Given the description of an element on the screen output the (x, y) to click on. 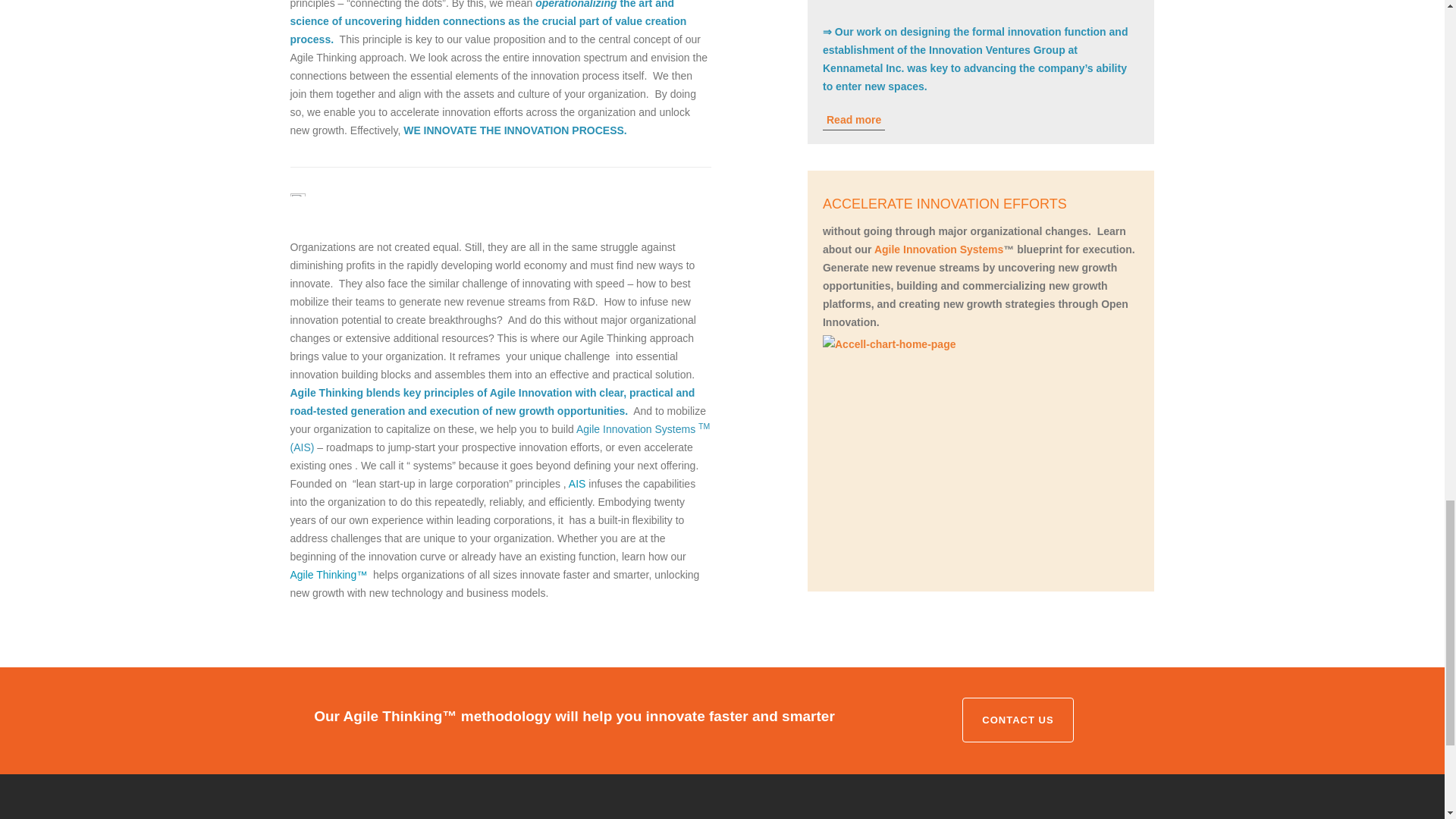
AIS (577, 483)
